Given the description of an element on the screen output the (x, y) to click on. 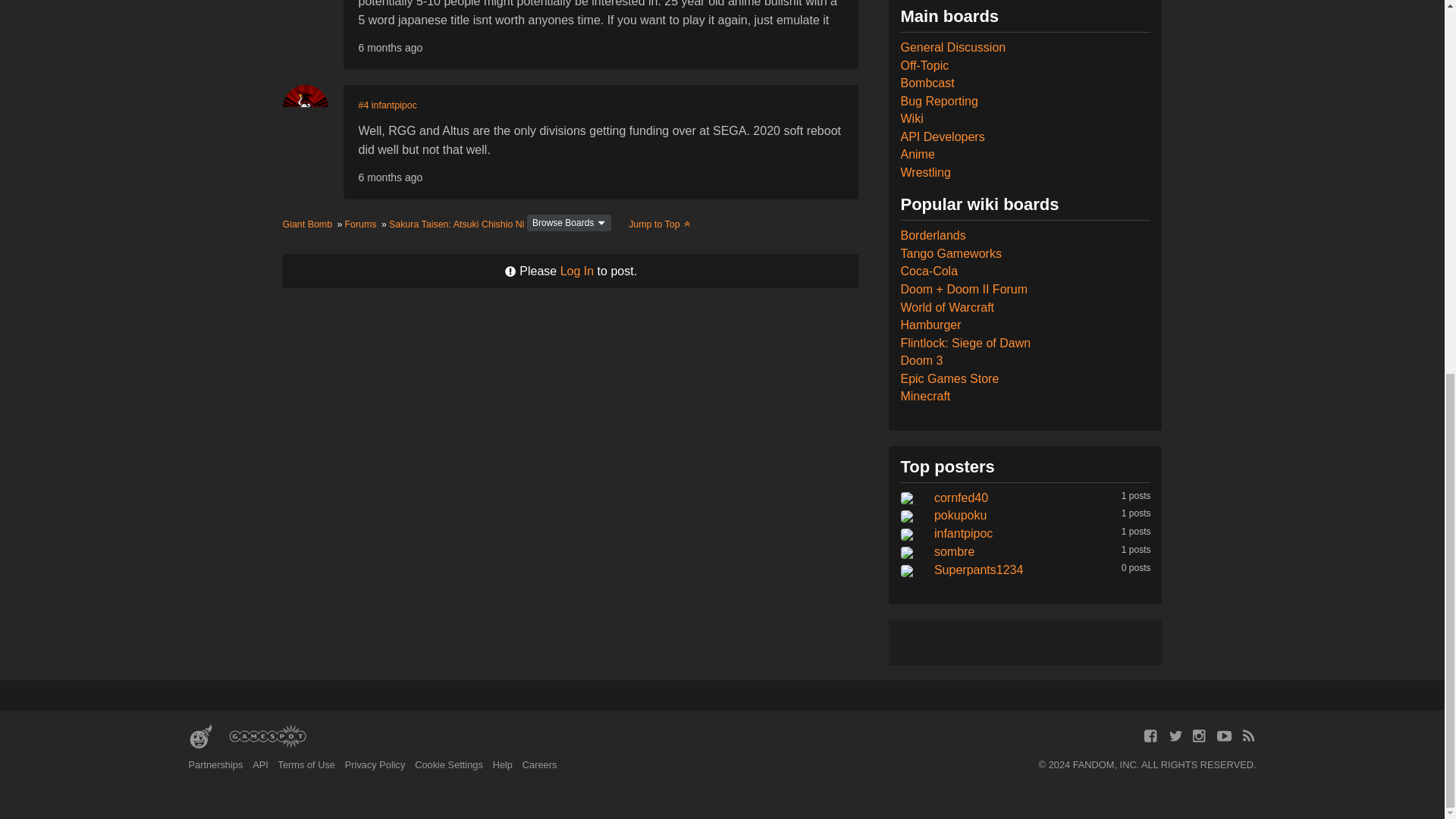
RSS (1248, 736)
Jan 19, 2024, 1:08pm (390, 47)
Giant Bomb (199, 736)
Jan 20, 2024, 12:34am (390, 177)
GameSpot (266, 736)
